Given the description of an element on the screen output the (x, y) to click on. 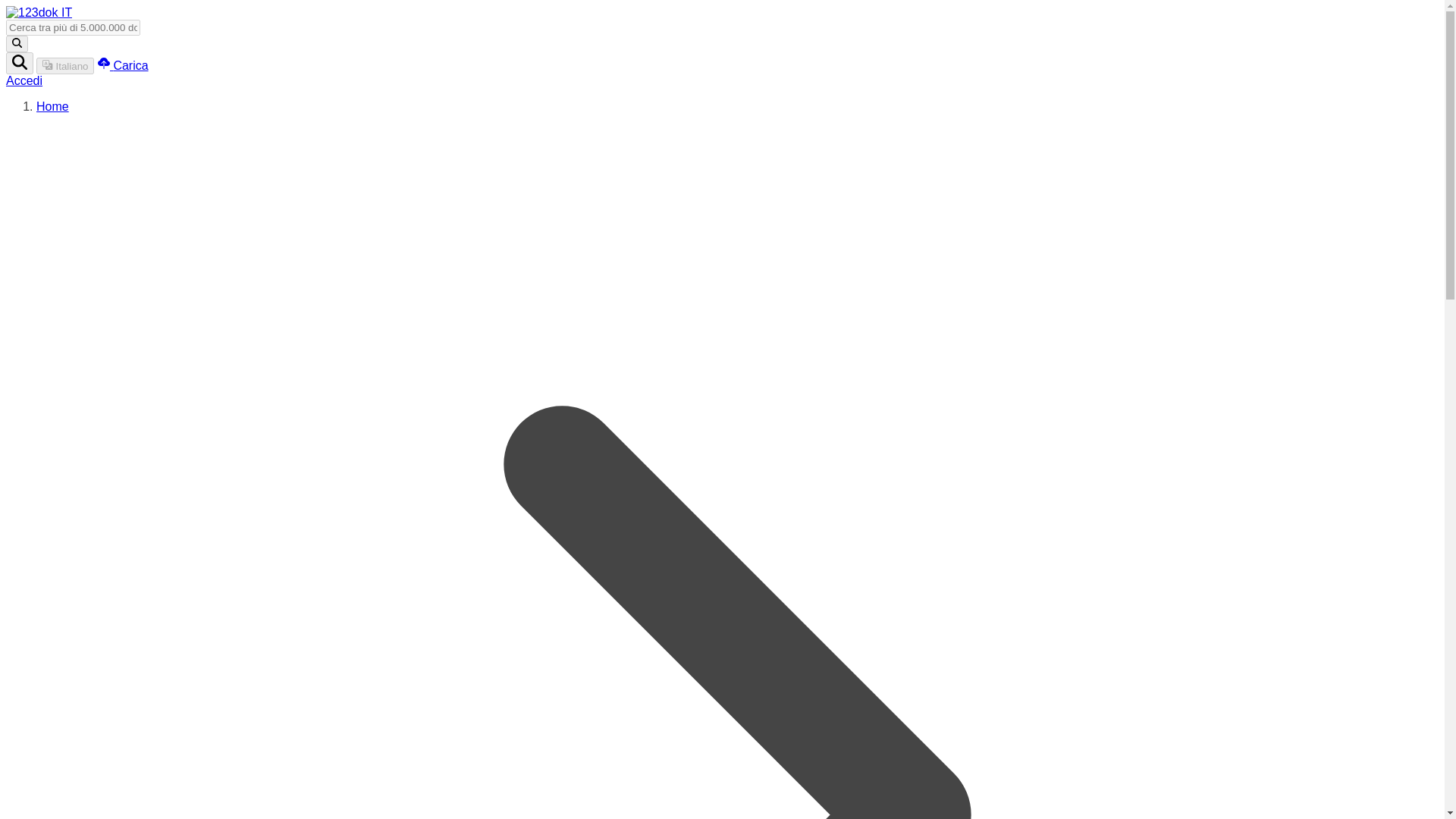
Cerca (19, 63)
Italiano (65, 65)
Cerca (16, 44)
Home (52, 106)
Carica (122, 65)
Accedi (23, 80)
